Given the description of an element on the screen output the (x, y) to click on. 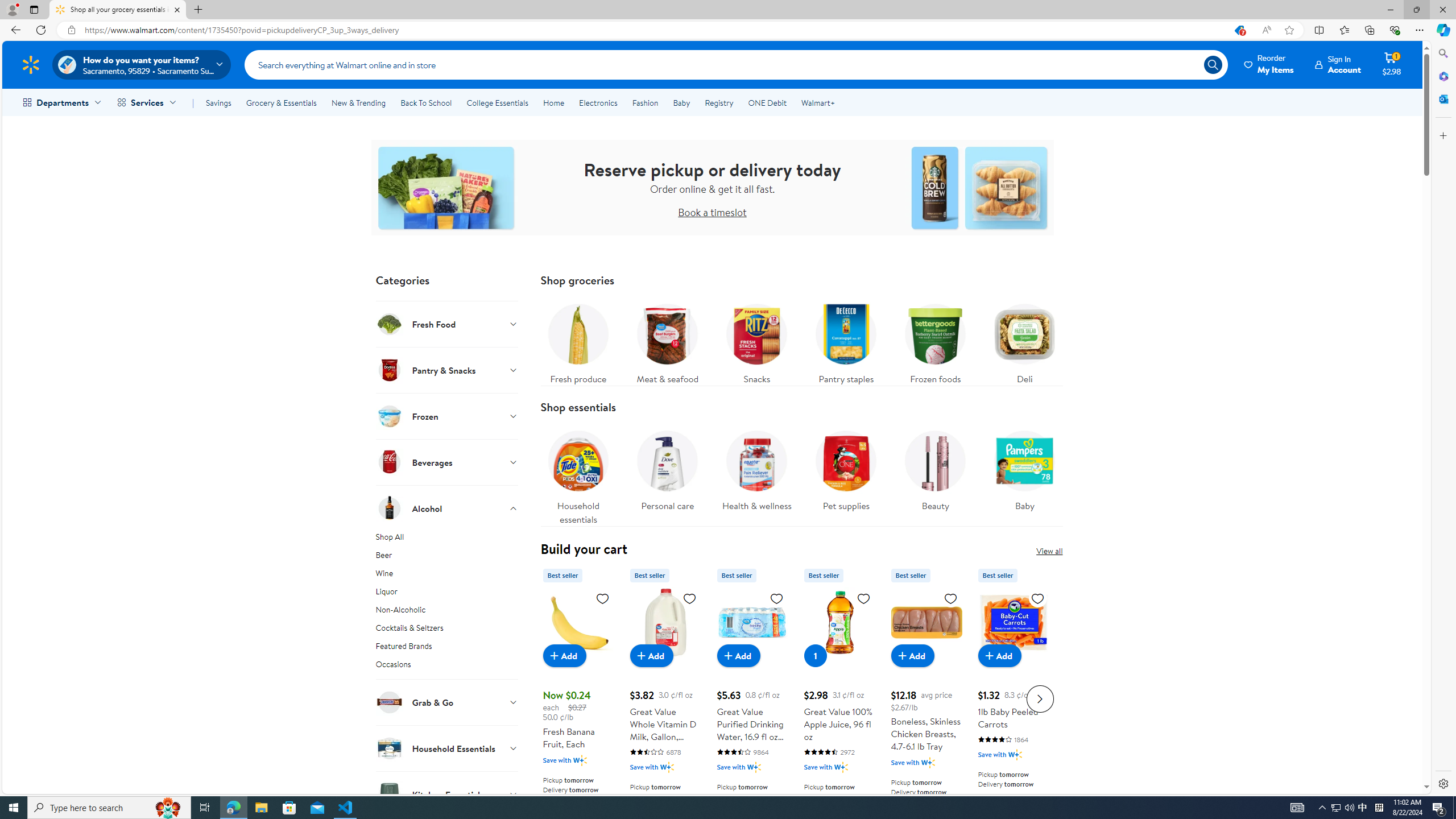
Pantry staples (845, 340)
Pet supplies (845, 473)
Grab & Go (446, 701)
Cocktails & Seltzers (446, 630)
Personal care (667, 467)
Beer (446, 557)
Liquor (446, 593)
Frozen foods (935, 340)
Kitchen Essentials (446, 794)
